Given the description of an element on the screen output the (x, y) to click on. 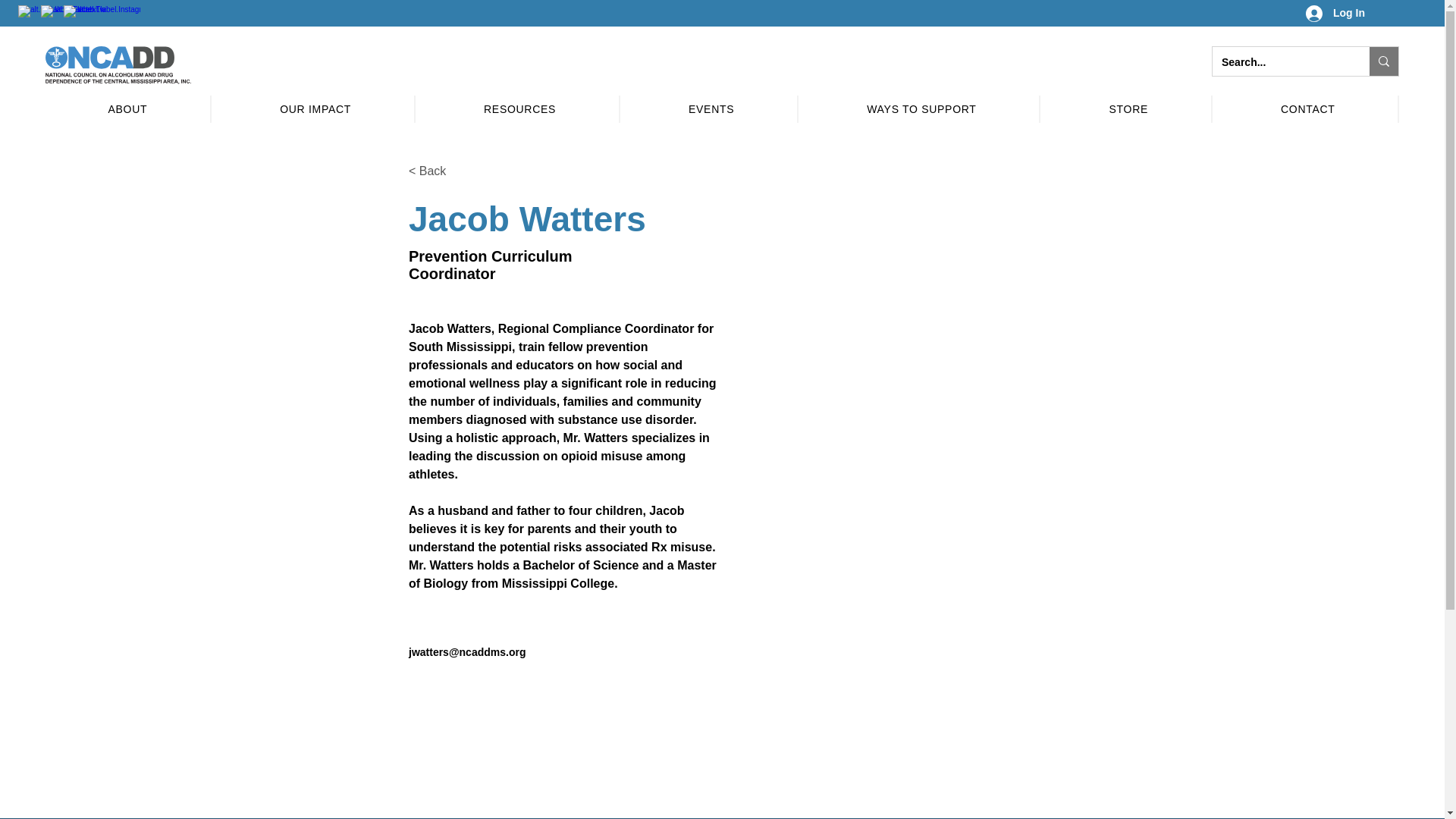
Jacob Watters, NCADD.jpg (1002, 347)
Log In (1335, 13)
STORE (1128, 108)
WAYS TO SUPPORT (923, 108)
CONTACT (1308, 108)
EVENTS (711, 108)
